Given the description of an element on the screen output the (x, y) to click on. 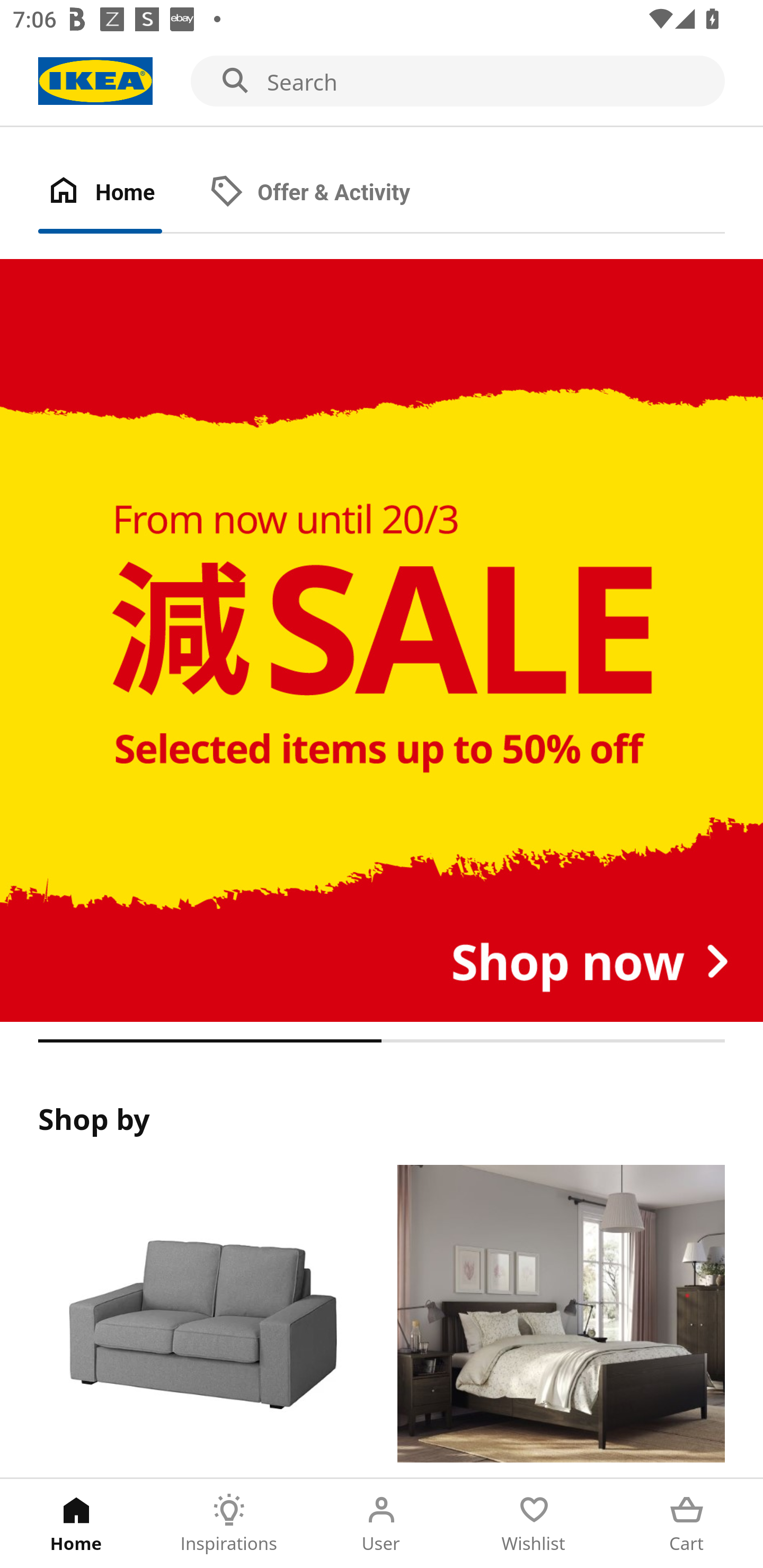
Search (381, 81)
Home
Tab 1 of 2 (118, 192)
Offer & Activity
Tab 2 of 2 (327, 192)
Products (201, 1321)
Rooms (560, 1321)
Home
Tab 1 of 5 (76, 1522)
Inspirations
Tab 2 of 5 (228, 1522)
User
Tab 3 of 5 (381, 1522)
Wishlist
Tab 4 of 5 (533, 1522)
Cart
Tab 5 of 5 (686, 1522)
